Given the description of an element on the screen output the (x, y) to click on. 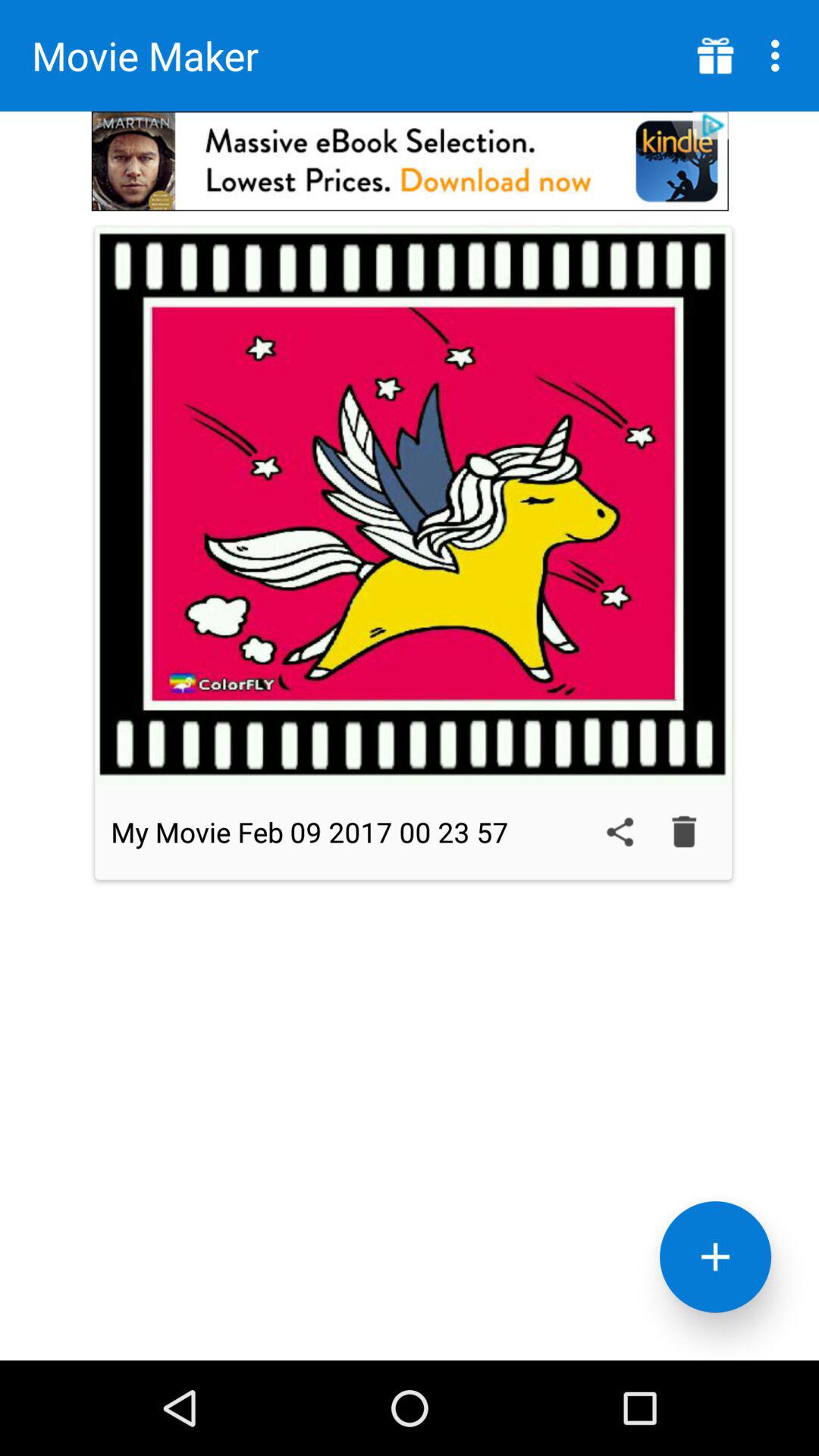
share image (620, 831)
